Given the description of an element on the screen output the (x, y) to click on. 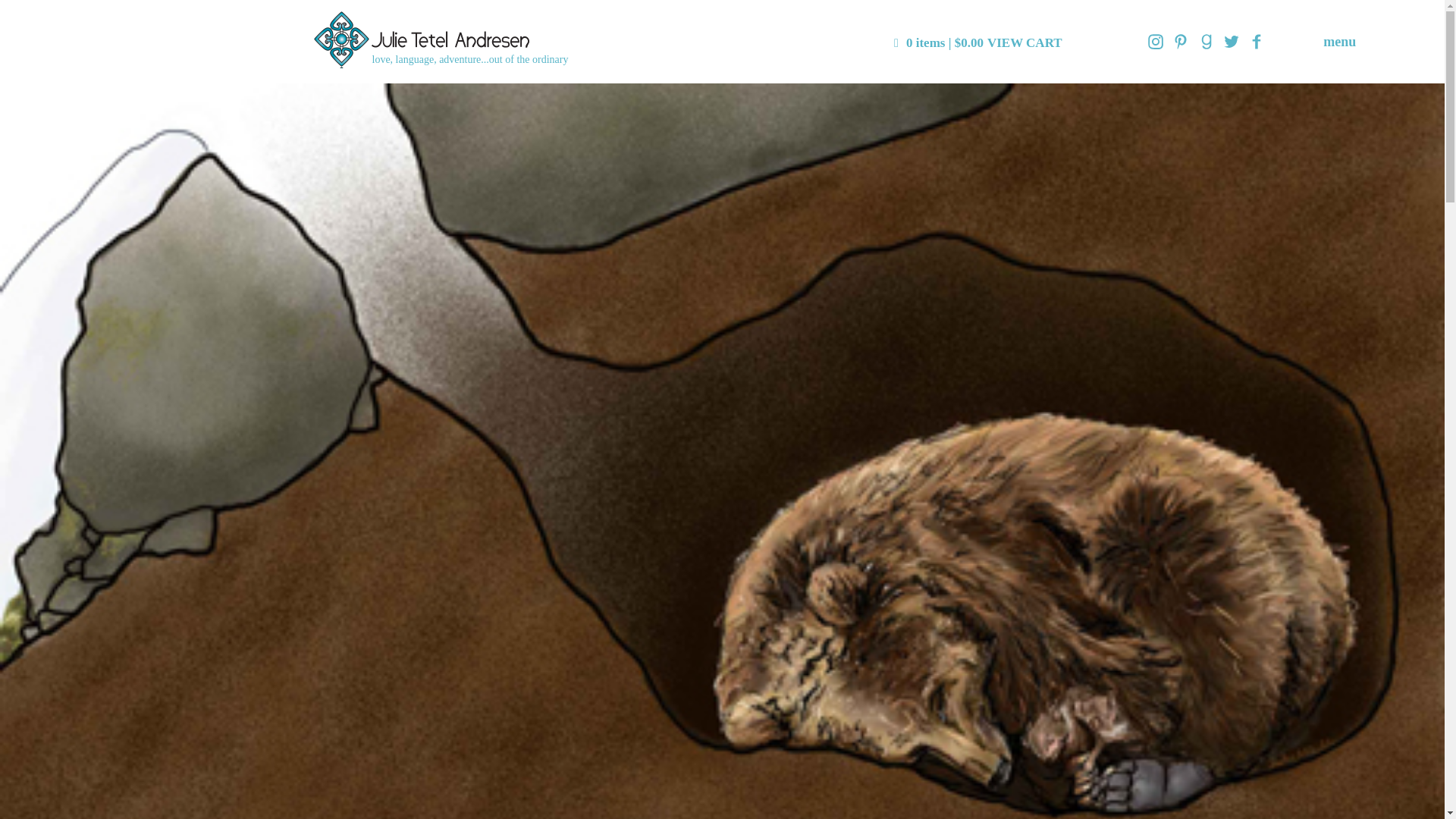
View your shopping cart (977, 42)
